Given the description of an element on the screen output the (x, y) to click on. 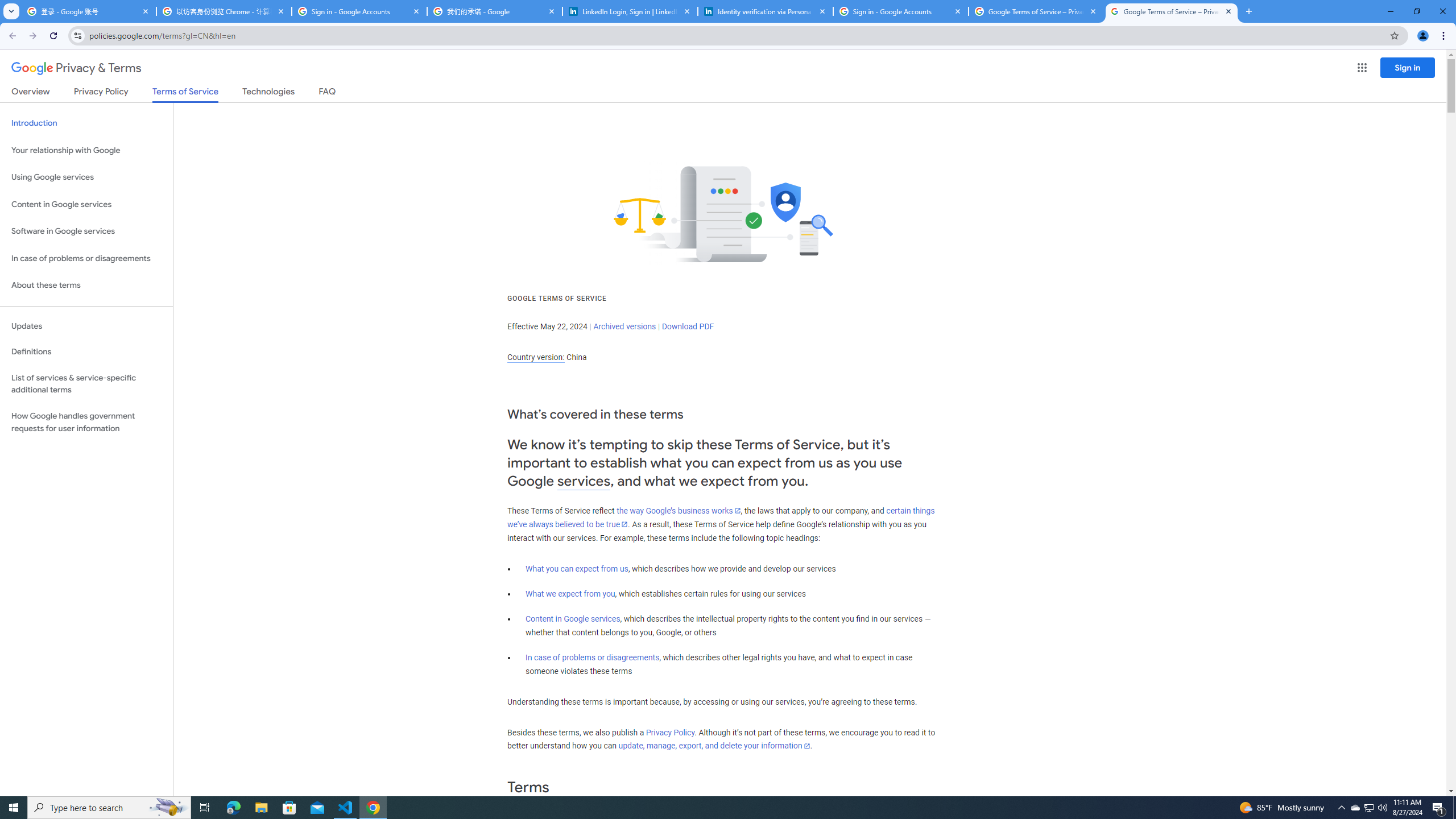
List of services & service-specific additional terms (86, 383)
services (583, 480)
Sign in - Google Accounts (901, 11)
In case of problems or disagreements (592, 657)
